Given the description of an element on the screen output the (x, y) to click on. 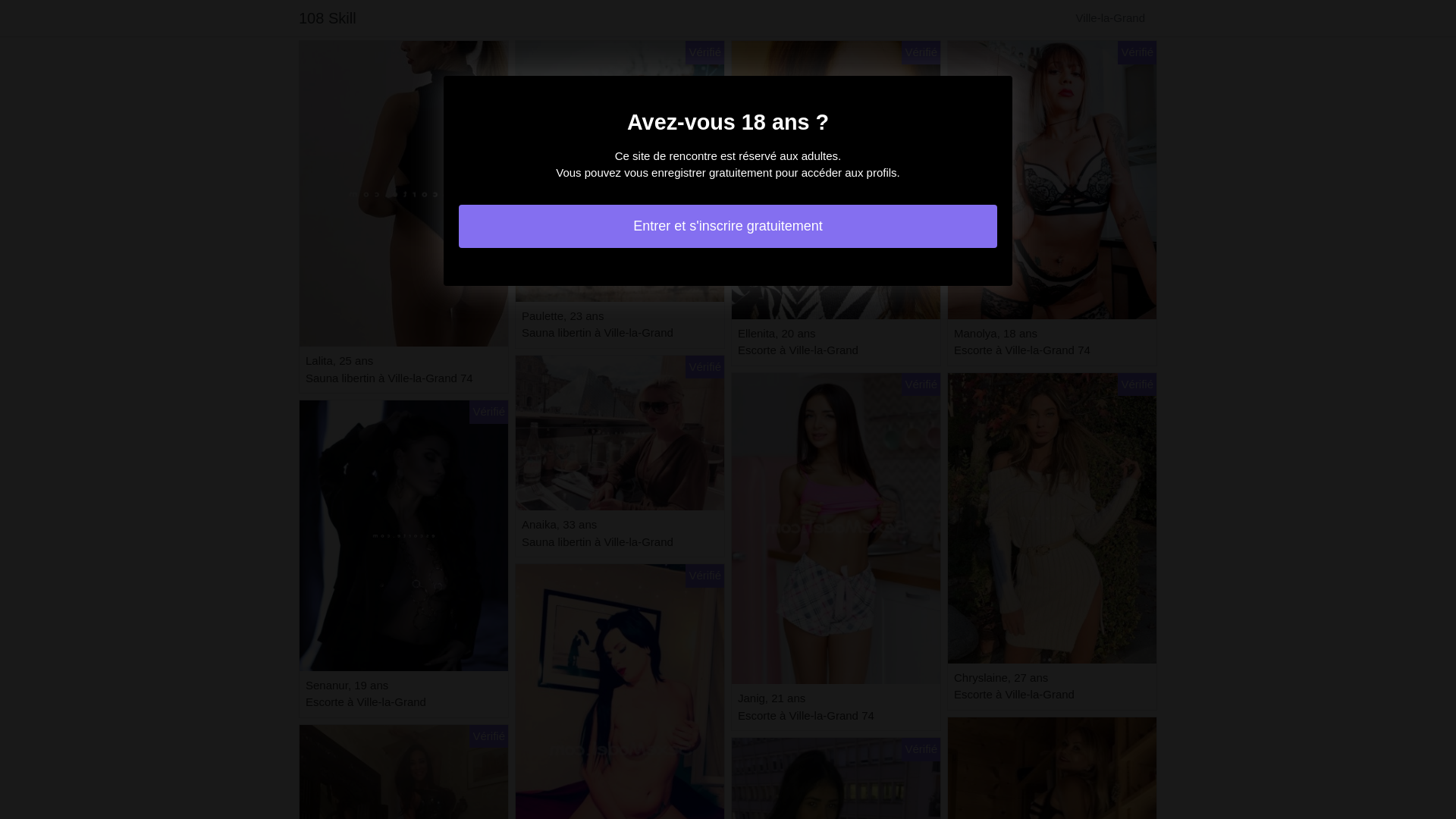
108 Skill Element type: text (327, 18)
Entrer et s'inscrire gratuitement Element type: text (727, 225)
